Given the description of an element on the screen output the (x, y) to click on. 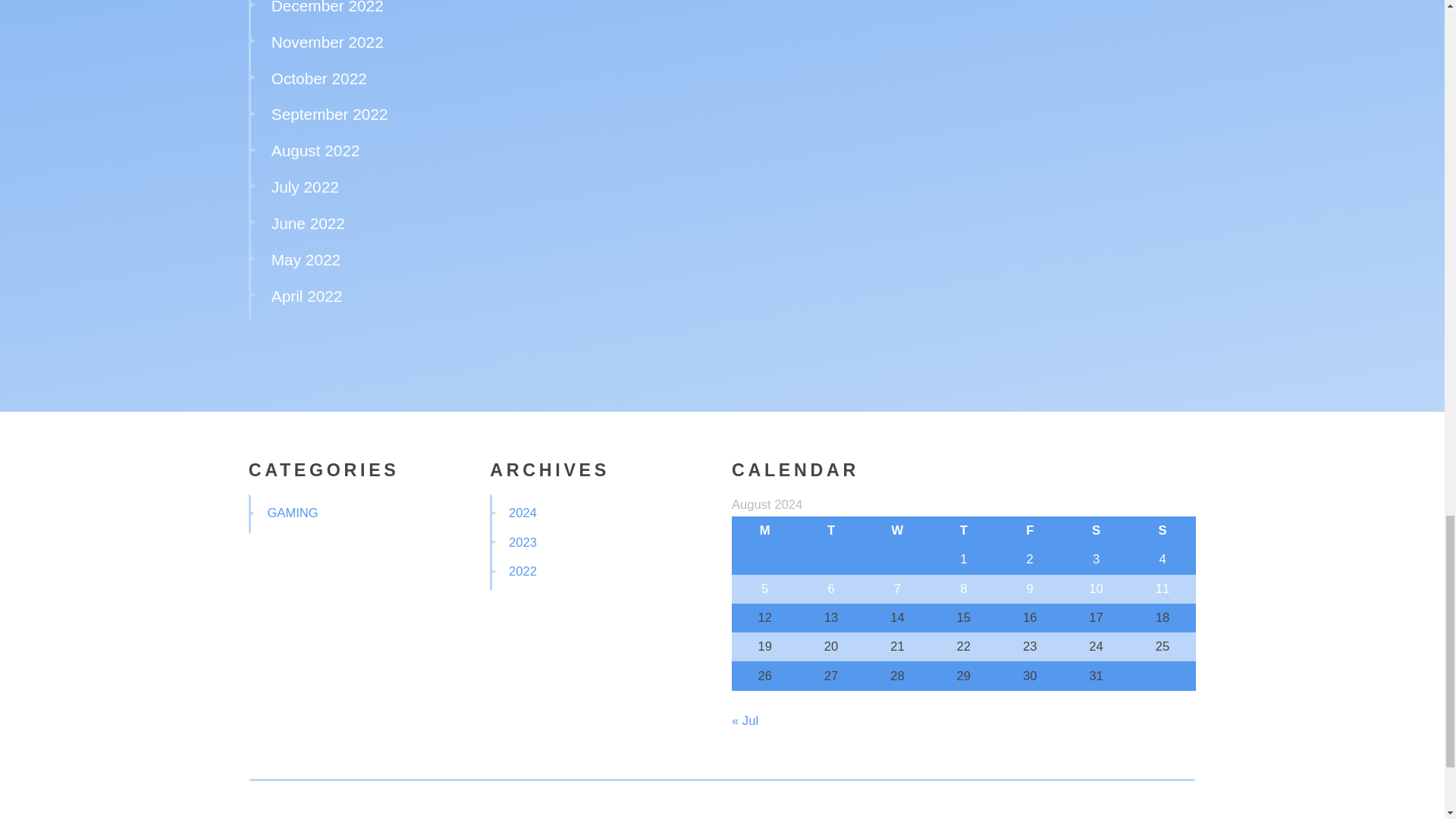
Tuesday (830, 530)
Thursday (962, 530)
November 2022 (327, 41)
December 2022 (327, 7)
August 2022 (314, 149)
April 2022 (306, 295)
Monday (764, 530)
Sunday (1162, 530)
Saturday (1095, 530)
Wednesday (897, 530)
